Given the description of an element on the screen output the (x, y) to click on. 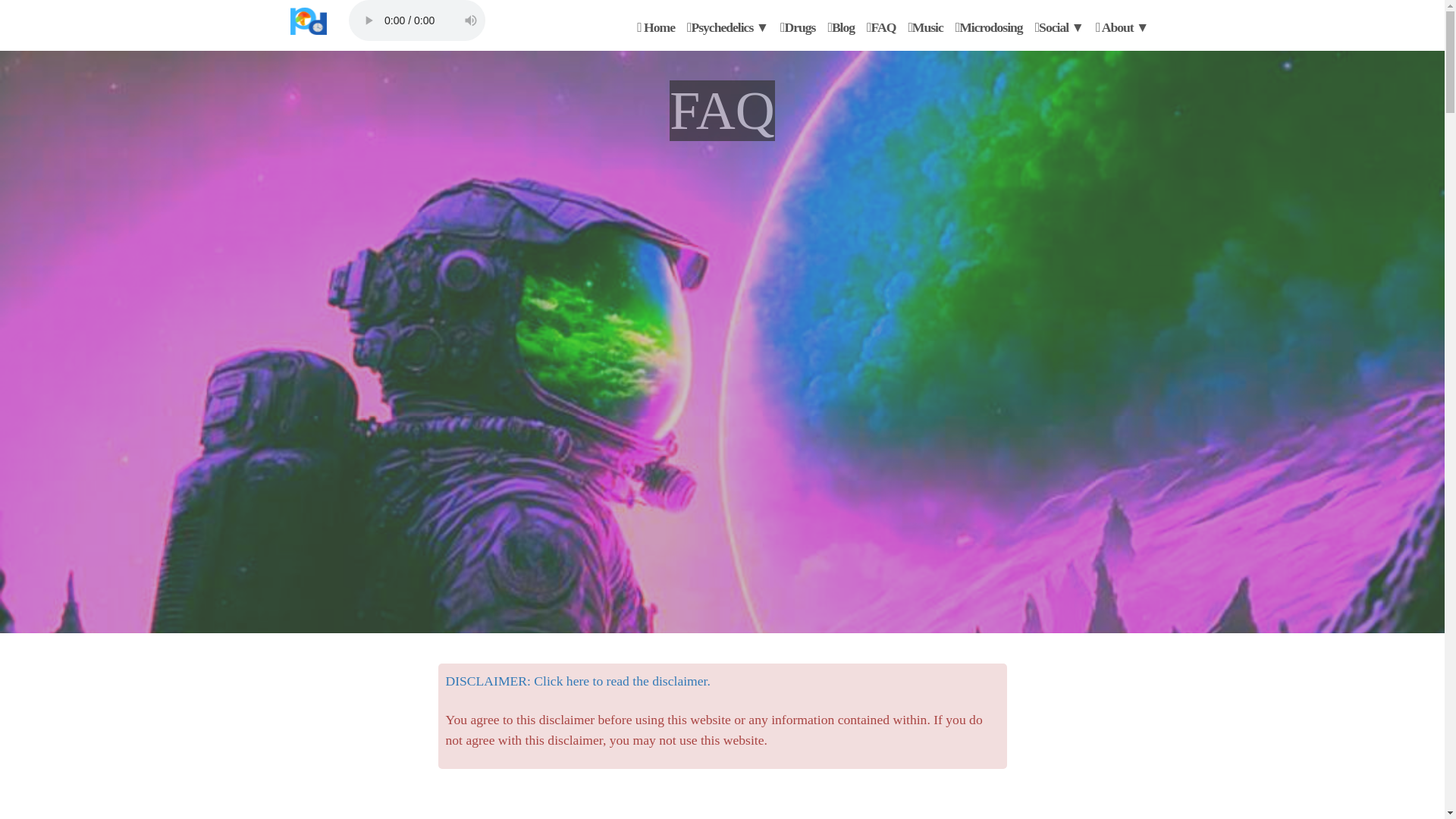
FAQ (307, 21)
DISCLAIMER: Click here to read the disclaimer. (577, 680)
FAQ - Go to homepage (308, 23)
